Given the description of an element on the screen output the (x, y) to click on. 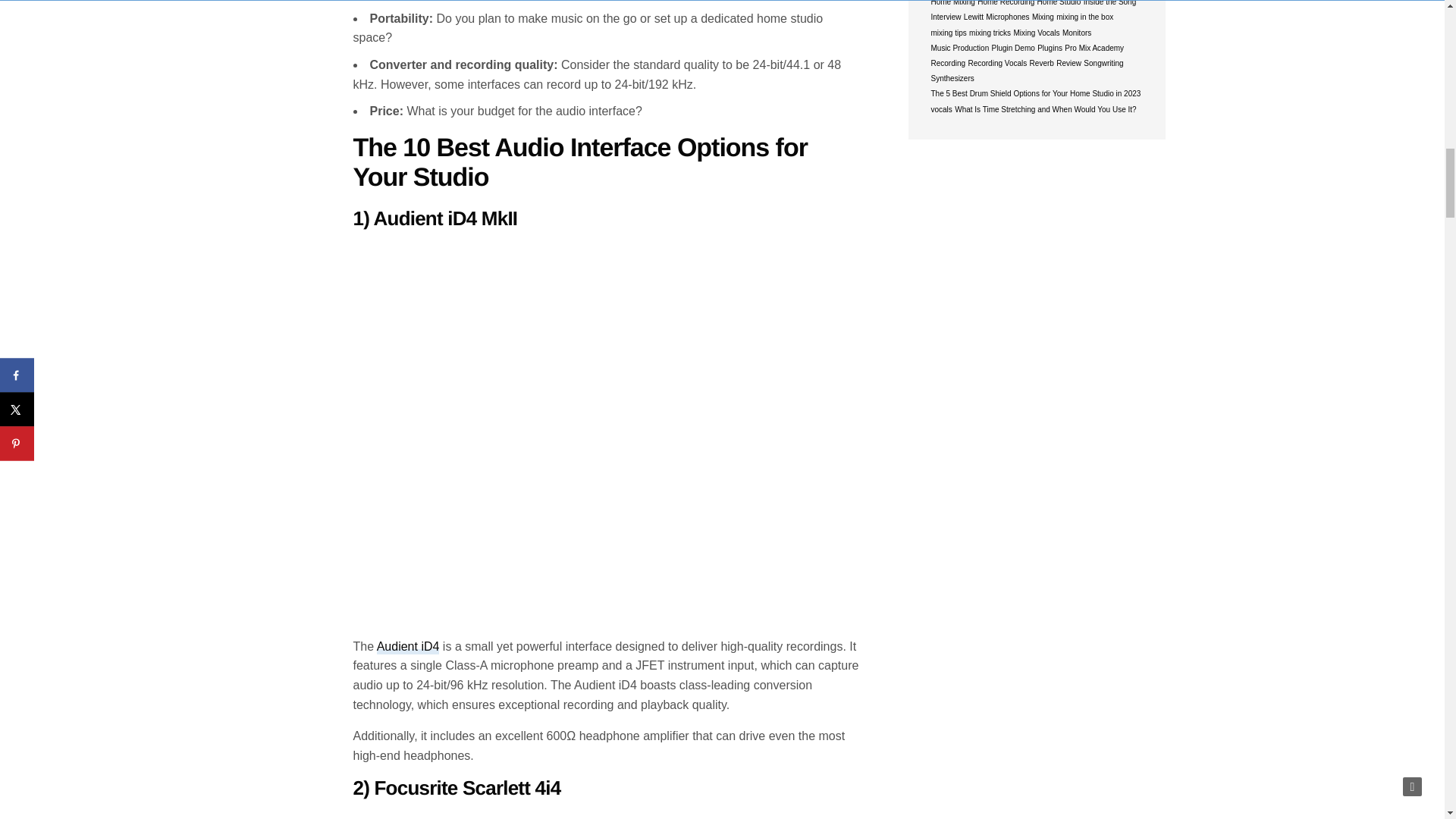
Audient iD4 MkII (446, 218)
Focusrite Scarlett 4i4 (467, 787)
Audient iD4 (408, 646)
